Given the description of an element on the screen output the (x, y) to click on. 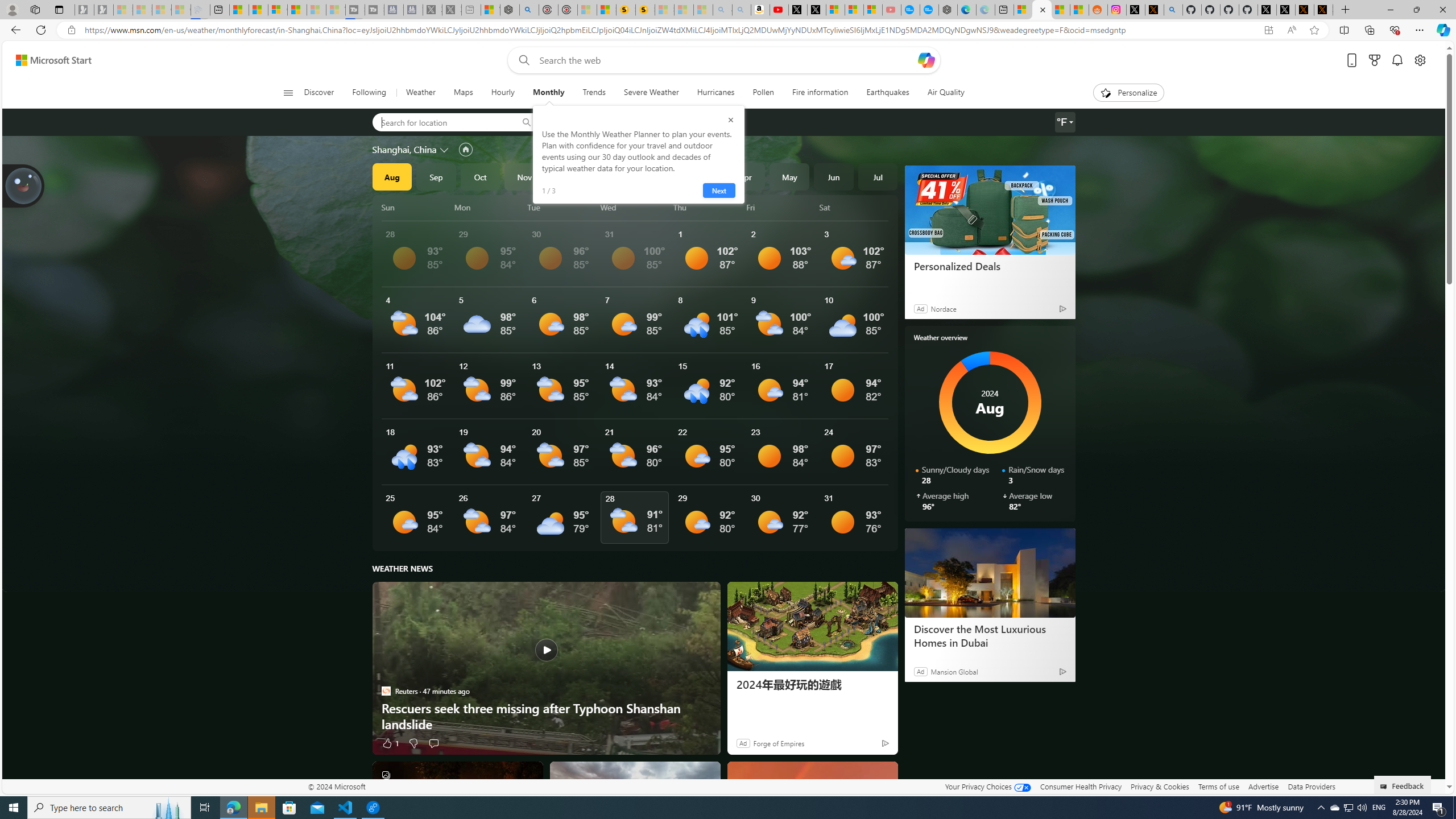
Shanghai, China Weather trends | Microsoft Weather (1079, 9)
Class: button-glyph (287, 92)
Terms of use (1218, 785)
Shanghai, China (403, 149)
Oct (480, 176)
Severe Weather (651, 92)
Microsoft rewards (1374, 60)
Hourly (502, 92)
